Given the description of an element on the screen output the (x, y) to click on. 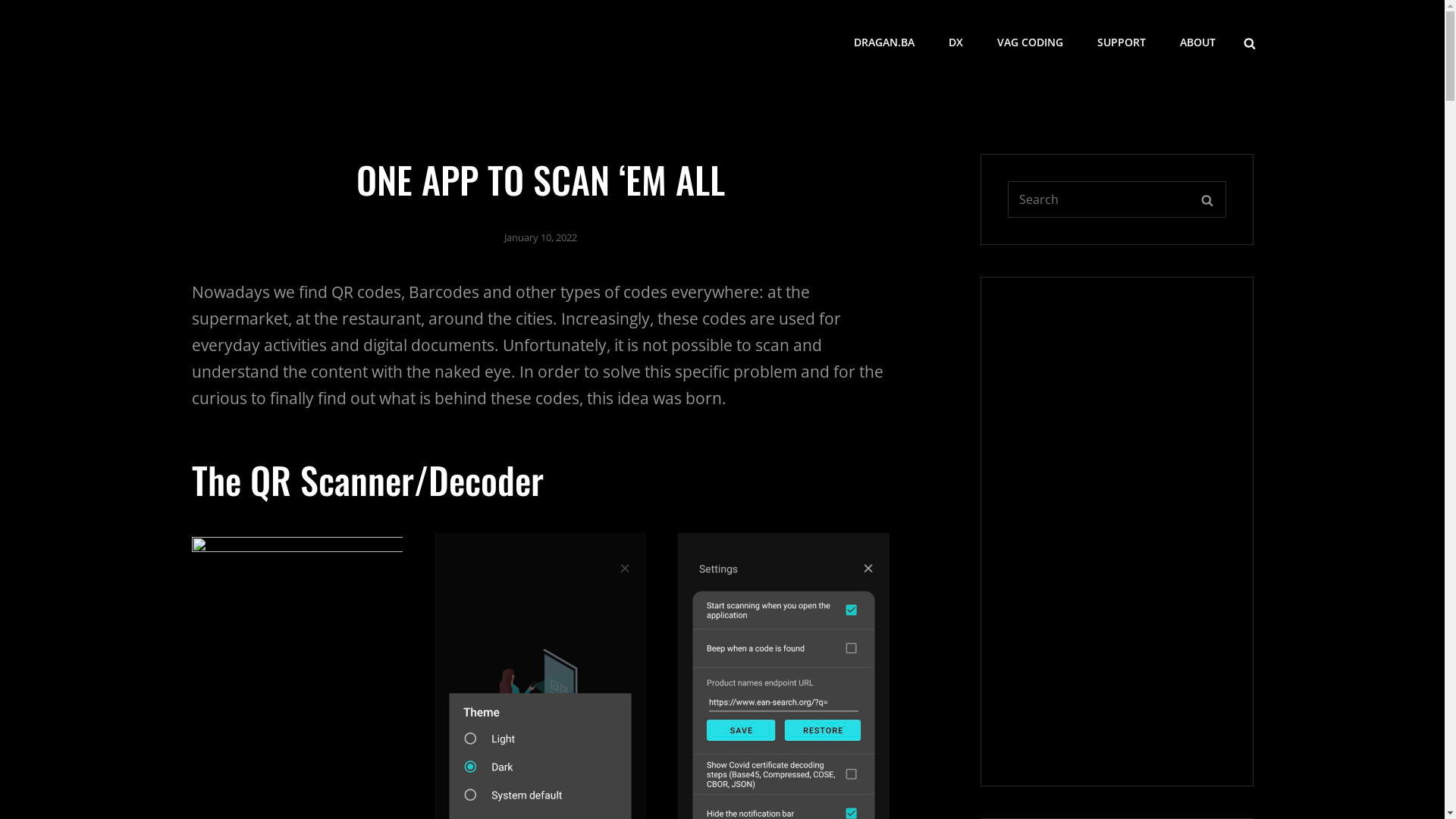
SEARCH Element type: text (1249, 42)
VAG CODING Element type: text (1029, 42)
Advertisement Element type: hover (1116, 531)
January 10, 2022 Element type: text (539, 237)
ABOUT Element type: text (1197, 42)
SUPPORT Element type: text (1120, 42)
DRAGAN.BA Element type: text (883, 42)
DX Element type: text (954, 42)
DX Element type: text (203, 52)
SEARCH Element type: text (1207, 199)
